Given the description of an element on the screen output the (x, y) to click on. 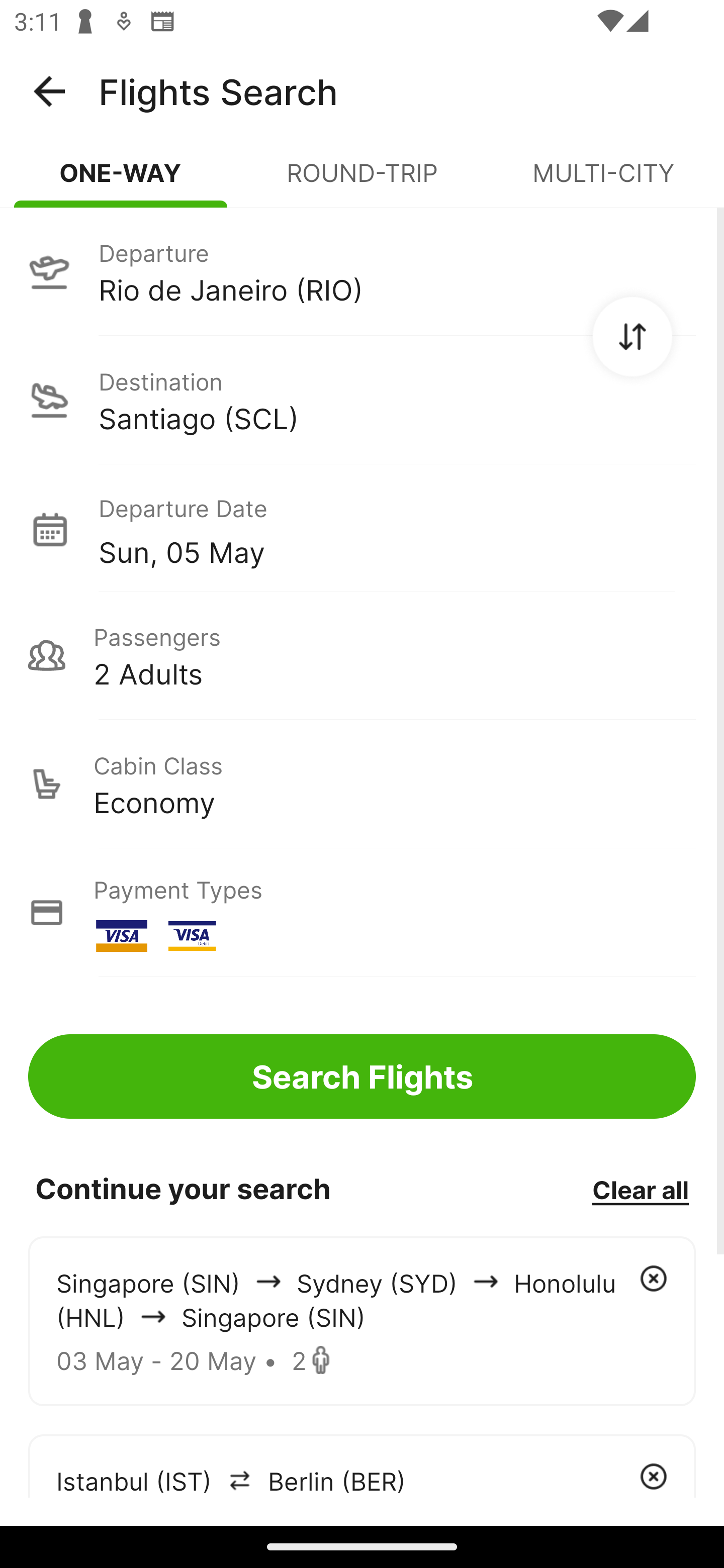
ONE-WAY (120, 180)
ROUND-TRIP (361, 180)
MULTI-CITY (603, 180)
Departure Rio de Janeiro (RIO) (362, 270)
Destination Santiago (SCL) (362, 400)
Departure Date Sun, 05 May (396, 528)
Passengers 2 Adults (362, 655)
Cabin Class Economy (362, 783)
Payment Types (362, 912)
Search Flights (361, 1075)
Clear all (640, 1189)
Istanbul (IST)  arrowIcon  Berlin (BER) (361, 1465)
